Given the description of an element on the screen output the (x, y) to click on. 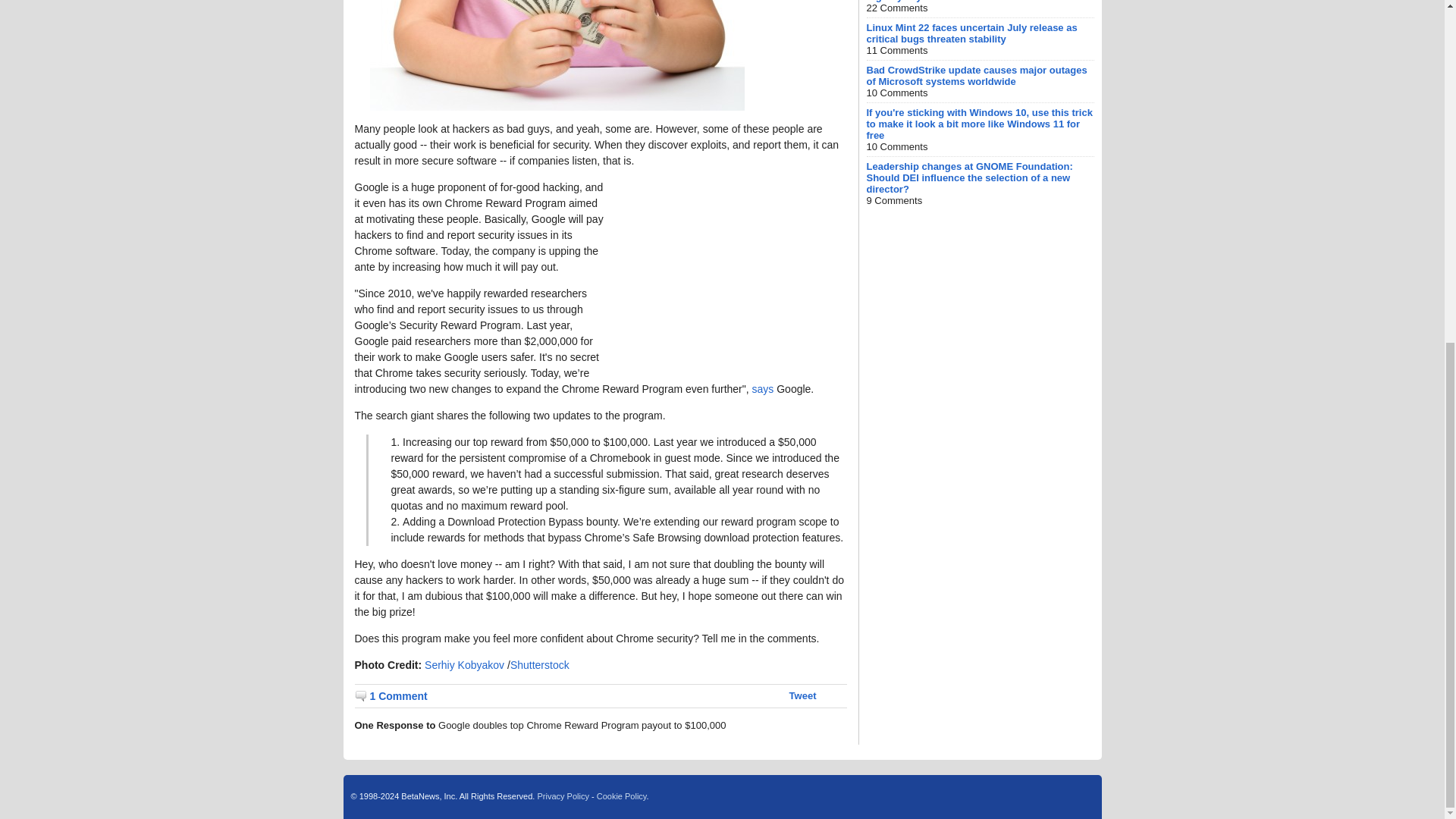
Advertisement (731, 274)
Serhiy Kobyakov (465, 664)
says (763, 388)
1 Comment (391, 695)
Tweet (802, 695)
Shutterstock (540, 664)
